Given the description of an element on the screen output the (x, y) to click on. 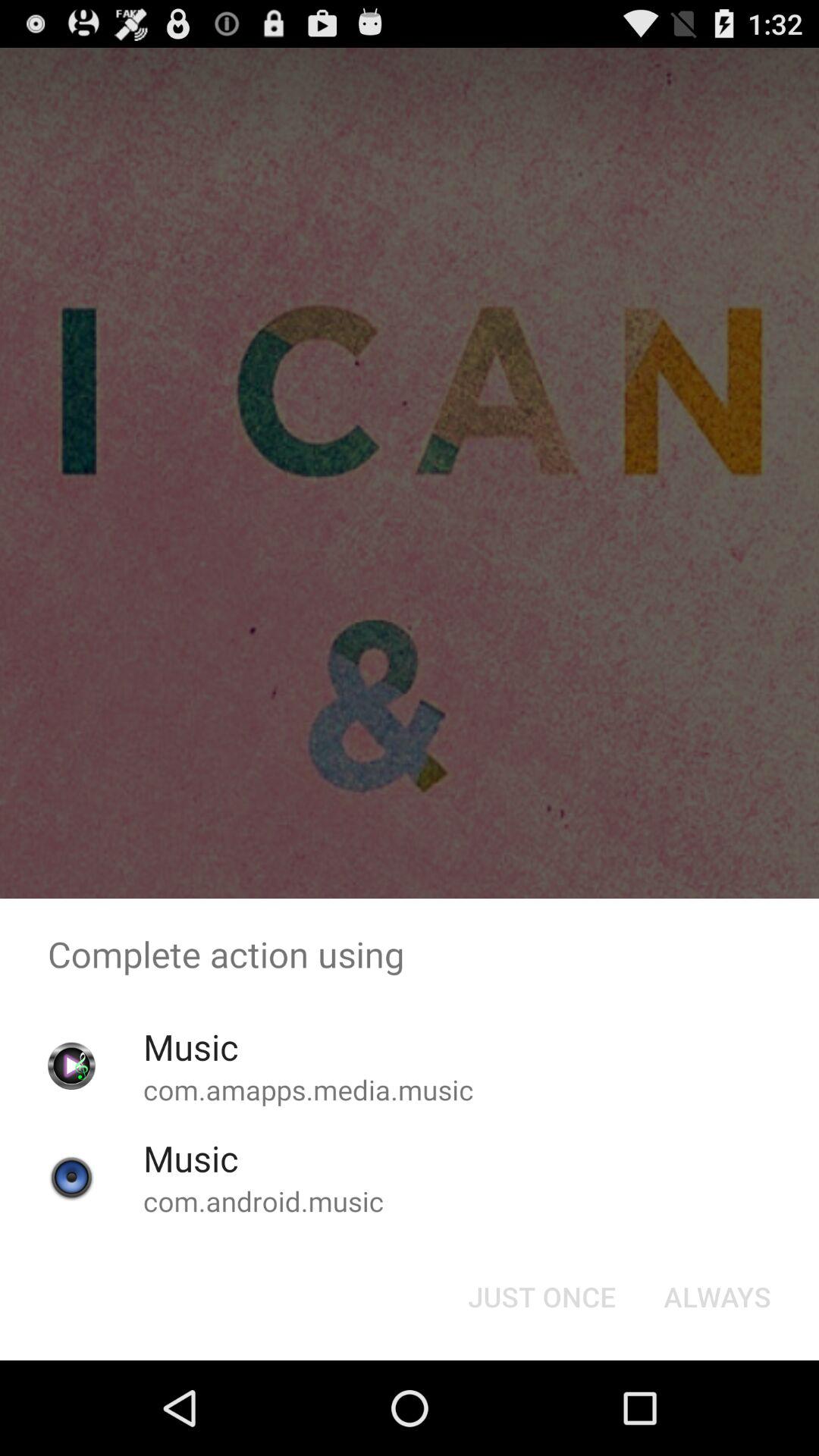
click the item at the bottom right corner (717, 1296)
